Given the description of an element on the screen output the (x, y) to click on. 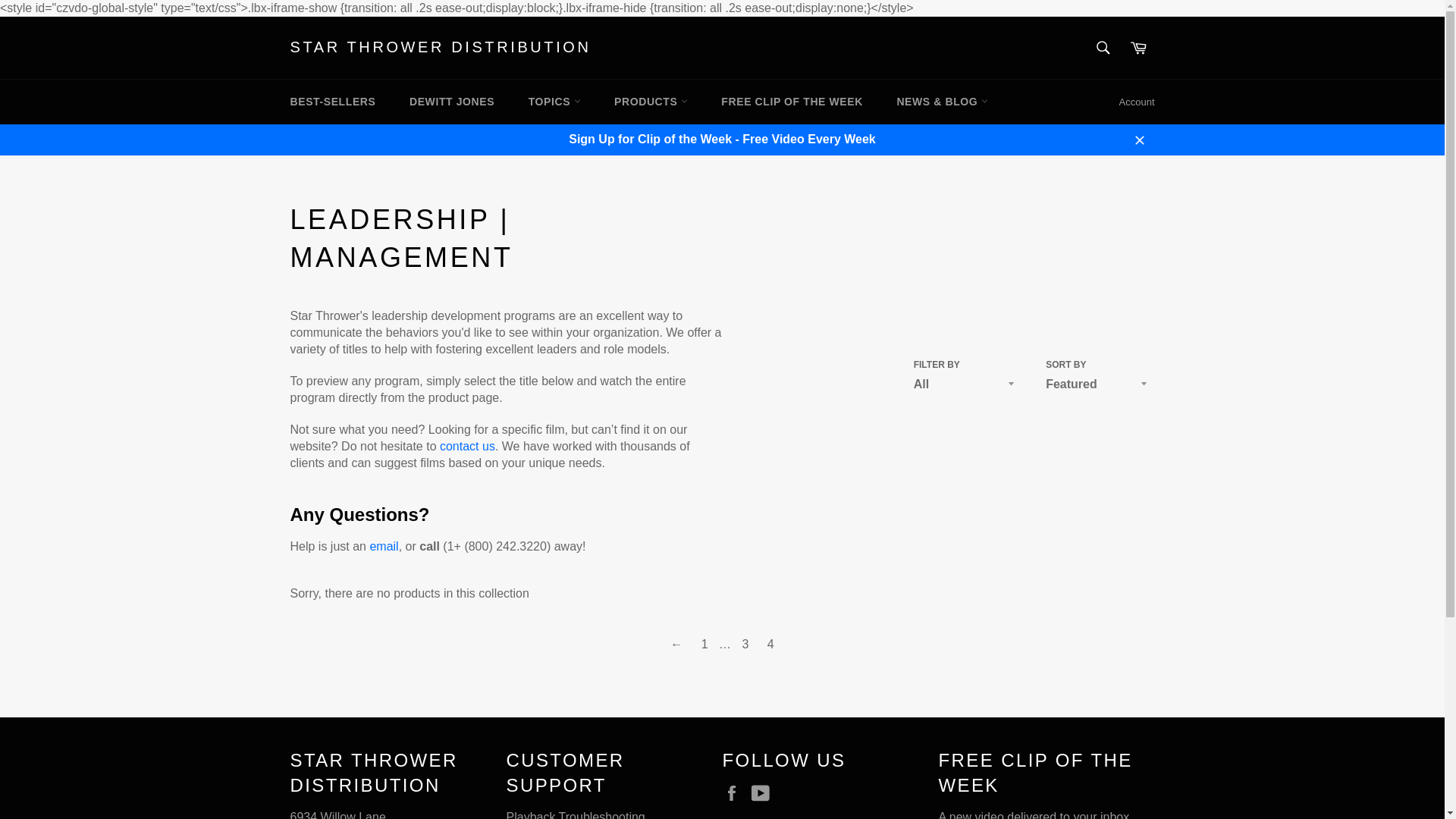
FREE CLIP OF THE WEEK (791, 101)
contact us (467, 445)
1 (705, 644)
Star Thrower Distribution on Facebook (735, 792)
DEWITT JONES (451, 101)
Contact Star Thrower Distribution (467, 445)
Cart (1138, 47)
Playback Troubleshooting (575, 814)
TOPICS (554, 101)
Search (1103, 47)
4 (770, 644)
BEST-SELLERS (332, 101)
PRODUCTS (650, 101)
3 (744, 644)
Account (1136, 102)
